Given the description of an element on the screen output the (x, y) to click on. 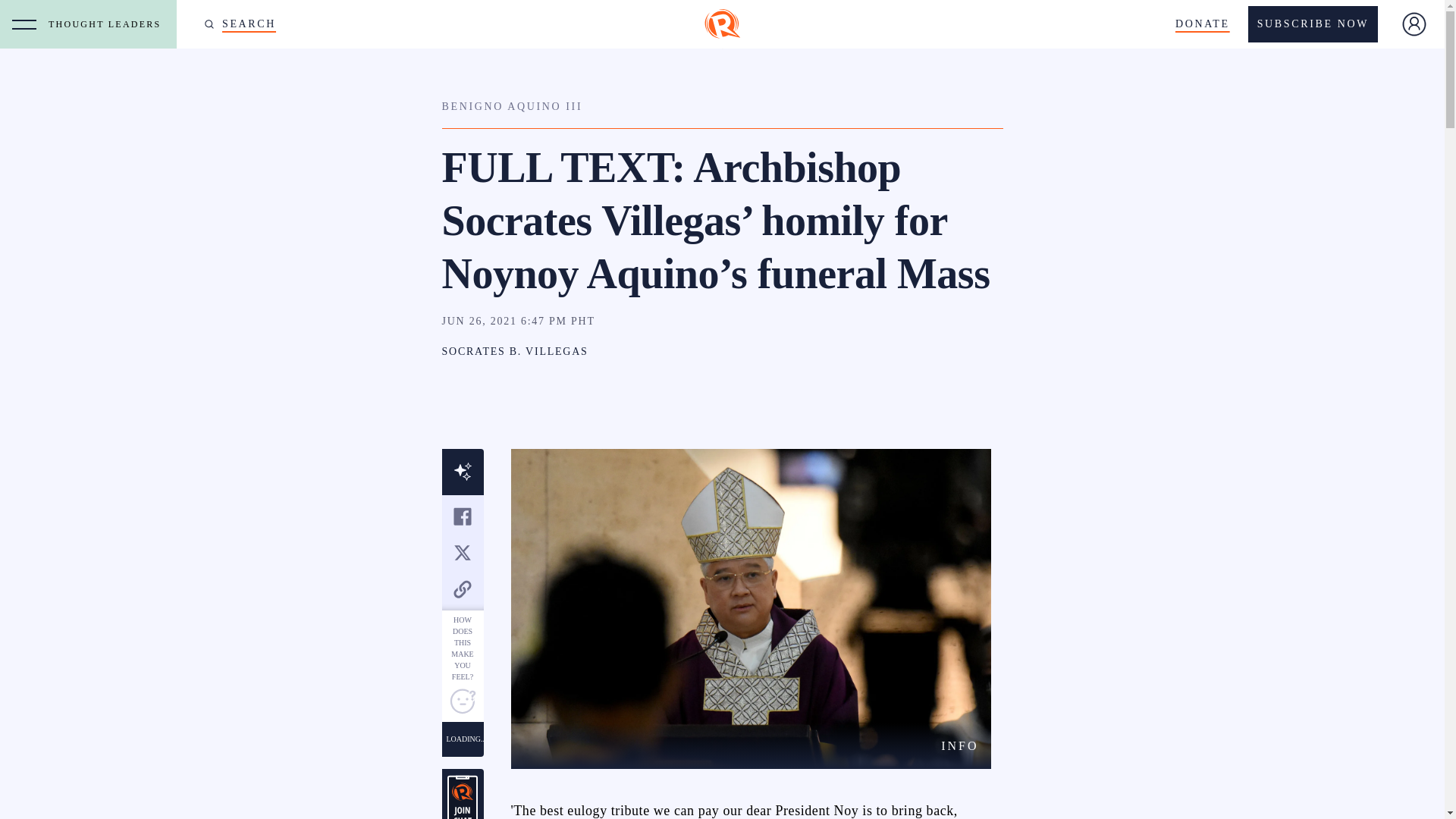
OPEN NAVIGATION (24, 24)
THOUGHT LEADERS (108, 23)
